Given the description of an element on the screen output the (x, y) to click on. 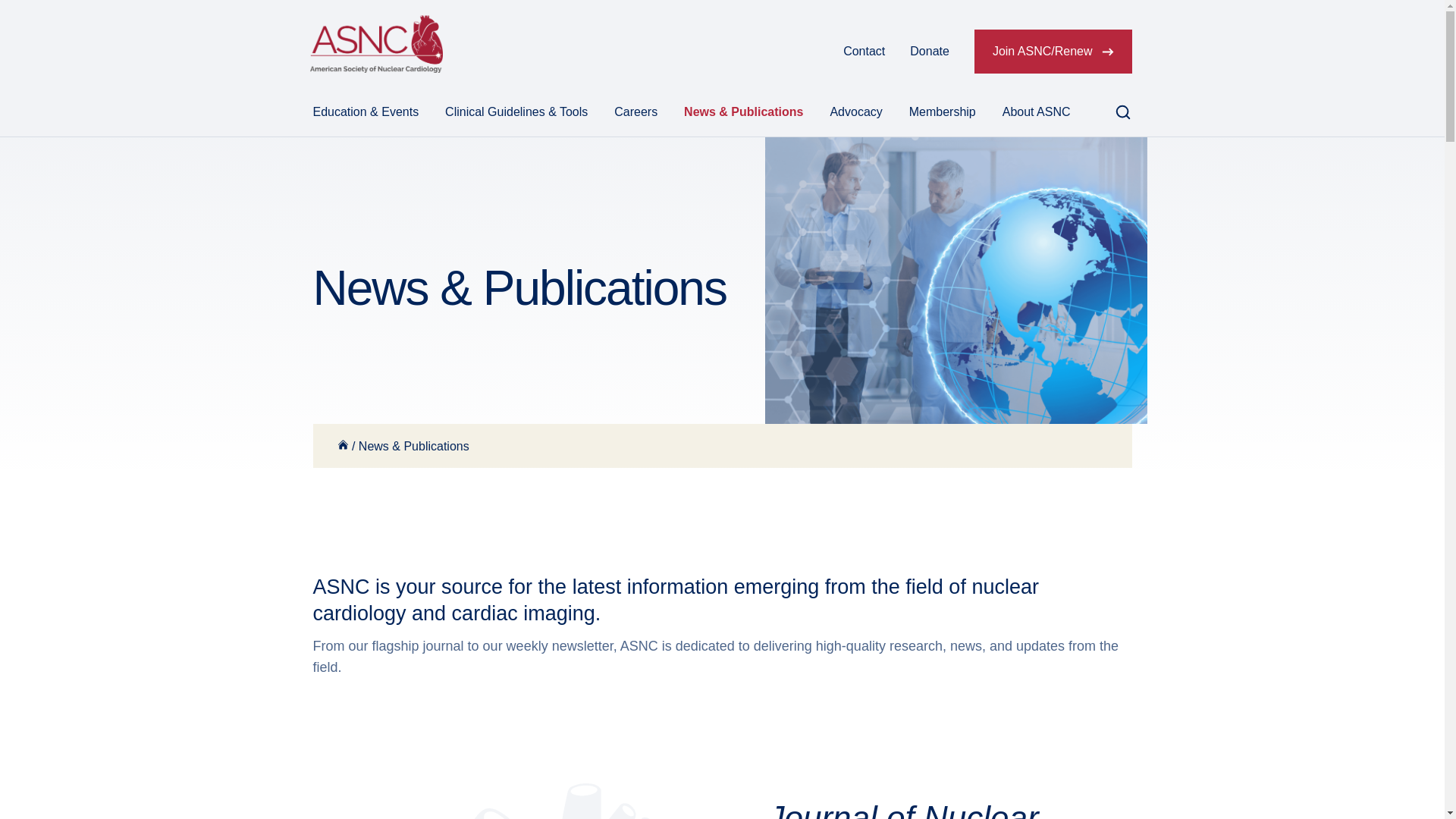
Contact (863, 51)
heart (509, 800)
Log In (801, 51)
Donate (929, 51)
